Given the description of an element on the screen output the (x, y) to click on. 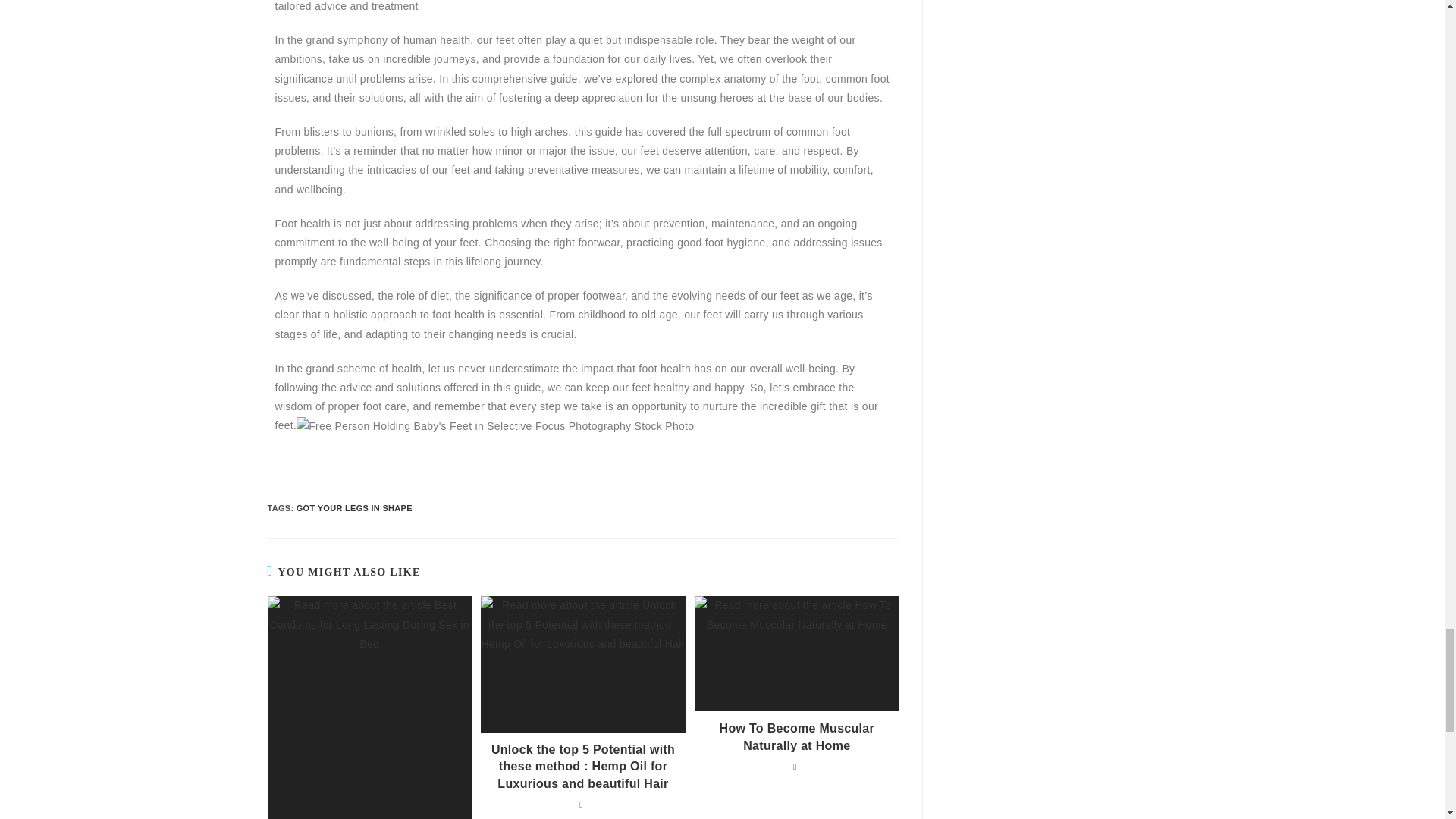
GOT YOUR LEGS IN SHAPE (354, 507)
How To Become Muscular Naturally at Home (796, 737)
